Given the description of an element on the screen output the (x, y) to click on. 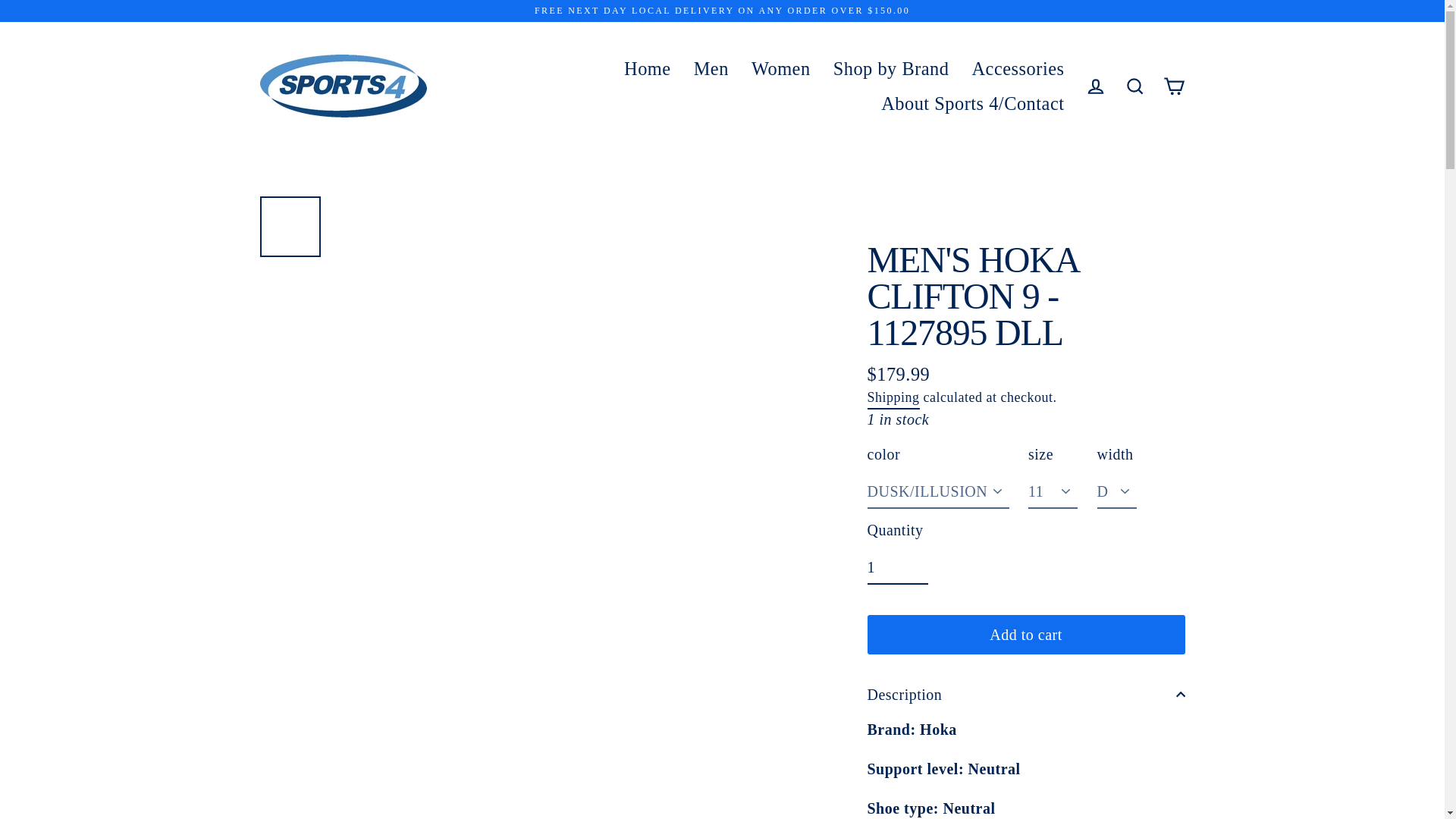
1 (897, 567)
